Given the description of an element on the screen output the (x, y) to click on. 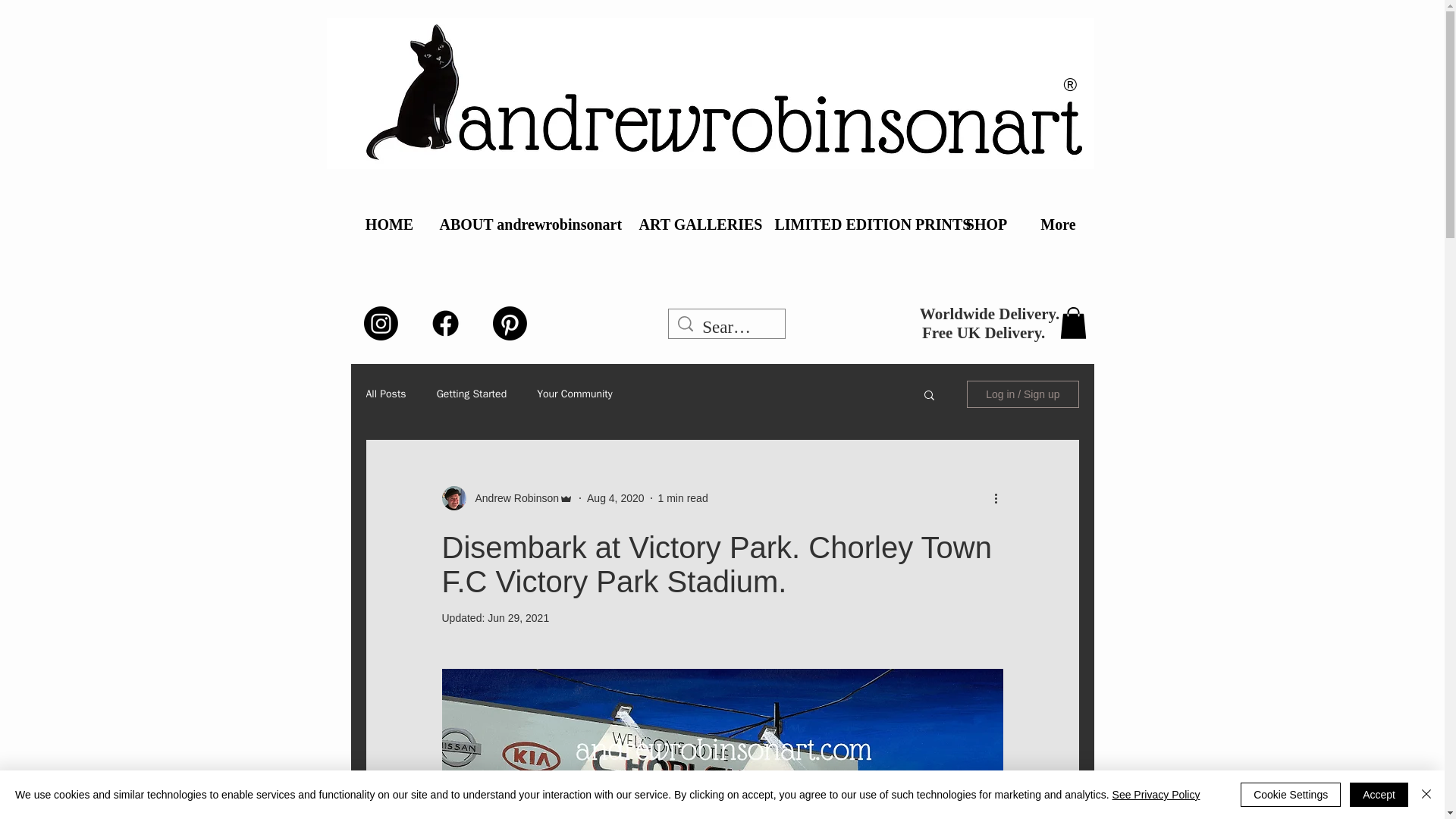
Getting Started (471, 394)
Your Community (574, 394)
All Posts (385, 394)
Aug 4, 2020 (615, 497)
1 min read (682, 497)
ABOUT andrewrobinsonart (527, 224)
Andrew Robinson (512, 497)
Jun 29, 2021 (517, 617)
HOME (389, 224)
